Given the description of an element on the screen output the (x, y) to click on. 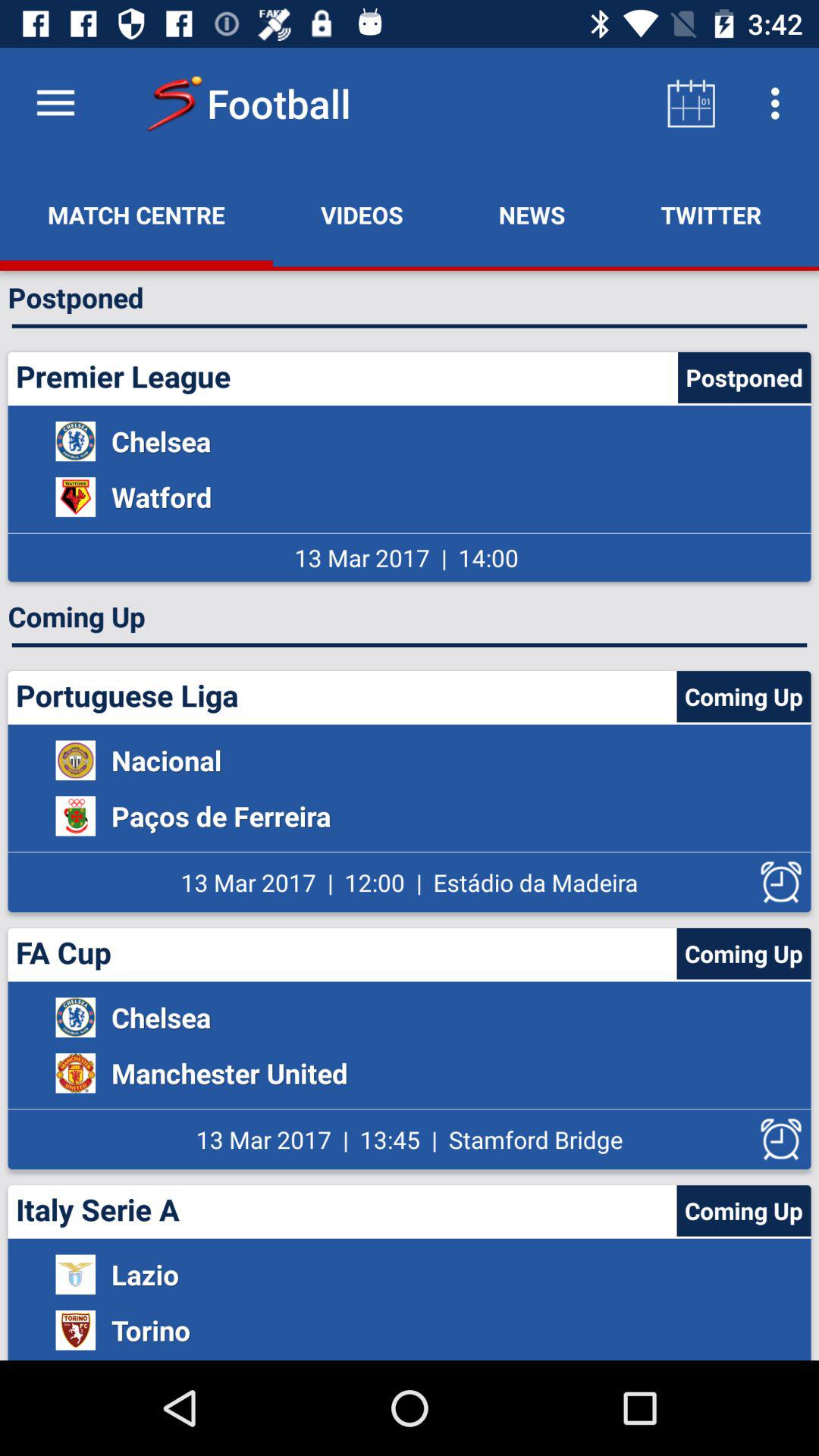
press the app to the right of match centre (362, 214)
